Given the description of an element on the screen output the (x, y) to click on. 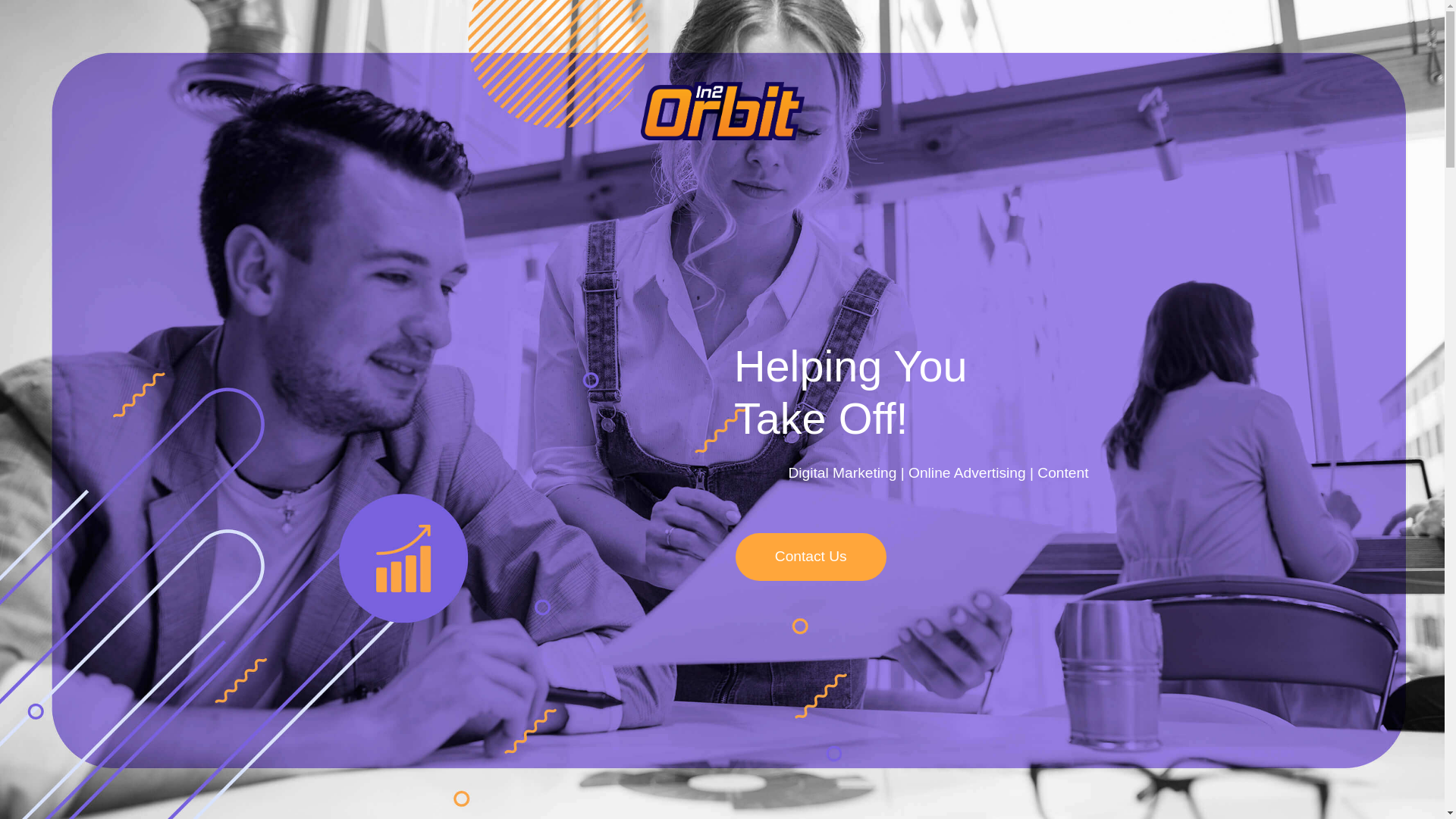
Contact Us Element type: text (810, 556)
